Given the description of an element on the screen output the (x, y) to click on. 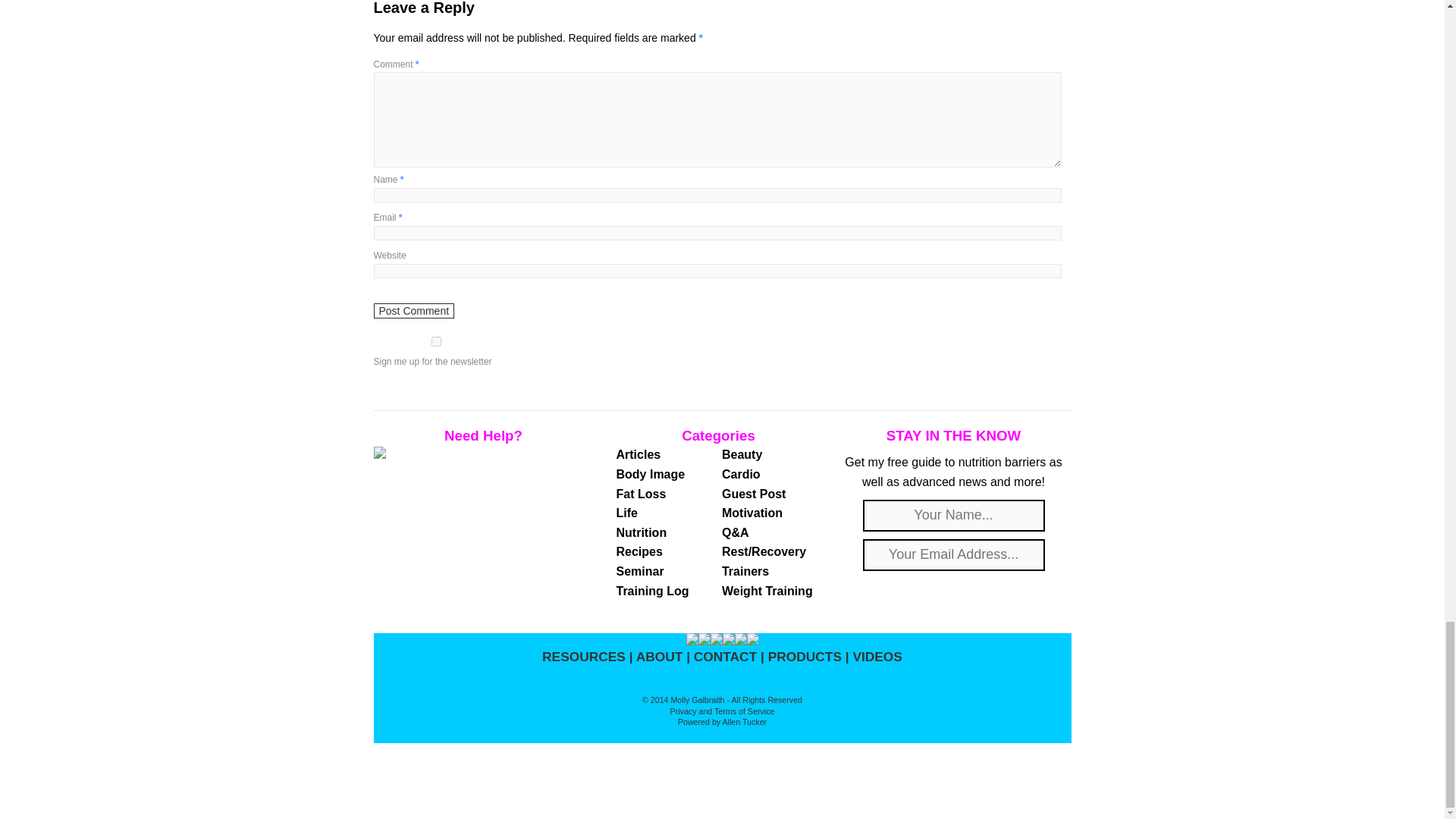
Molly Galbraith - linkedin (751, 641)
Molly Galbraith - rss (727, 641)
Molly Galbraith (691, 641)
Post Comment (413, 310)
1 (435, 341)
Molly Galbraith - twitter (703, 641)
Molly Galbraith - youtube (739, 641)
Molly Galbraith - facebook (716, 641)
